Given the description of an element on the screen output the (x, y) to click on. 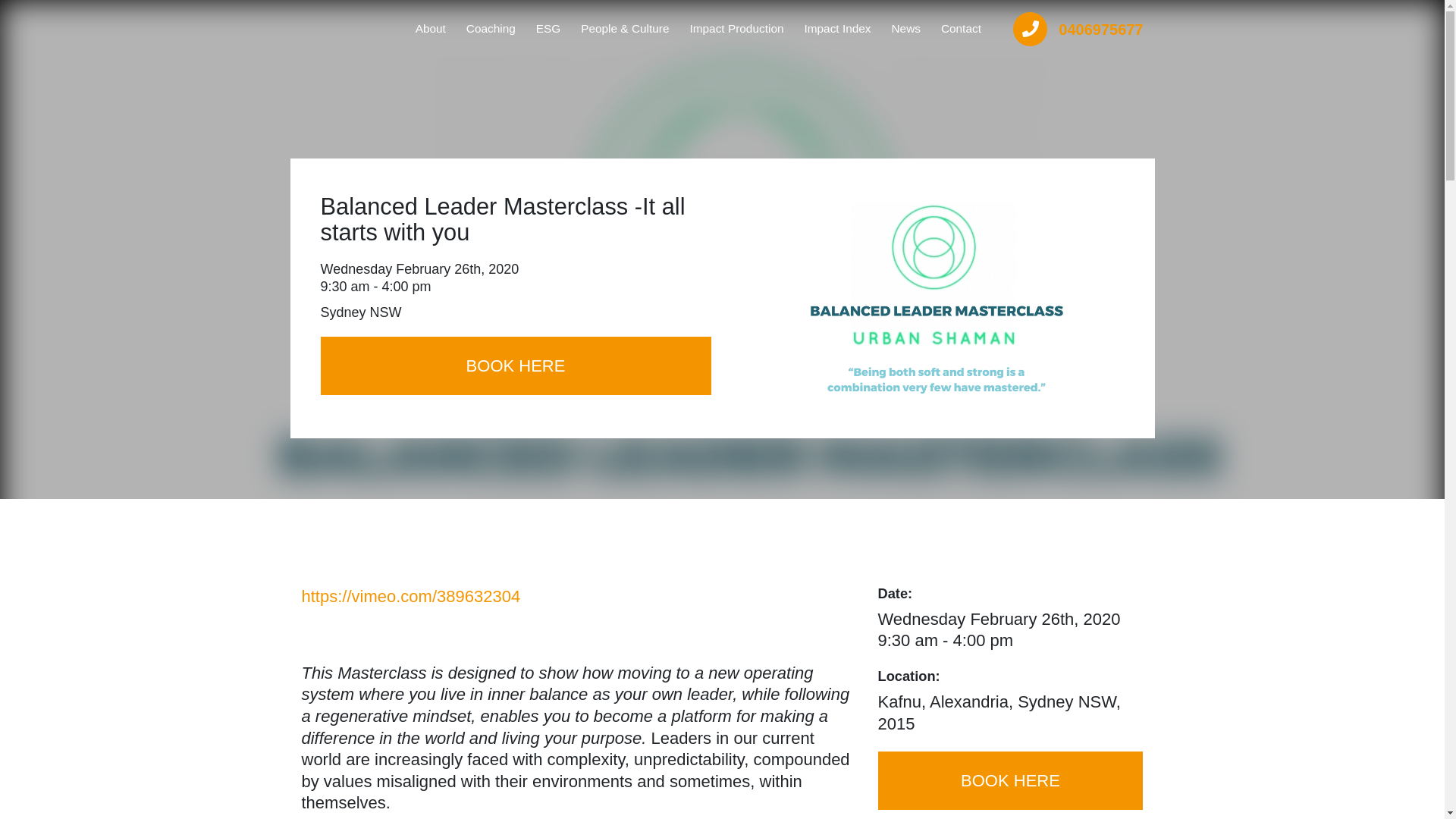
Coaching (490, 28)
Impact Index (836, 28)
News (905, 28)
About (429, 28)
ESG (547, 28)
Impact Production (735, 28)
